Given the description of an element on the screen output the (x, y) to click on. 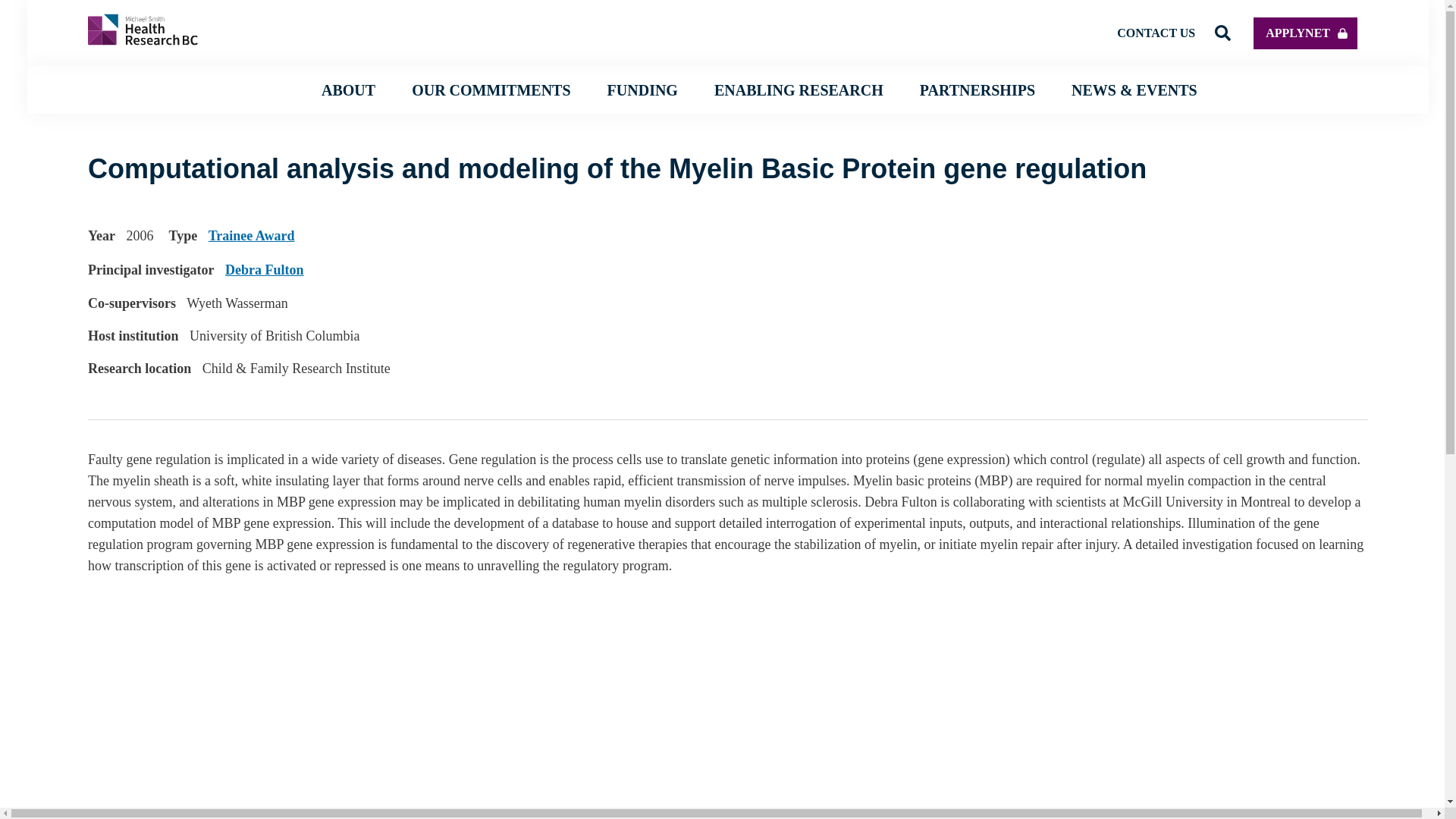
ENABLING RESEARCH (798, 89)
ABOUT (348, 89)
APPLYNET (1304, 32)
OUR COMMITMENTS (491, 89)
FUNDING (642, 89)
CONTACT US (1155, 32)
